Given the description of an element on the screen output the (x, y) to click on. 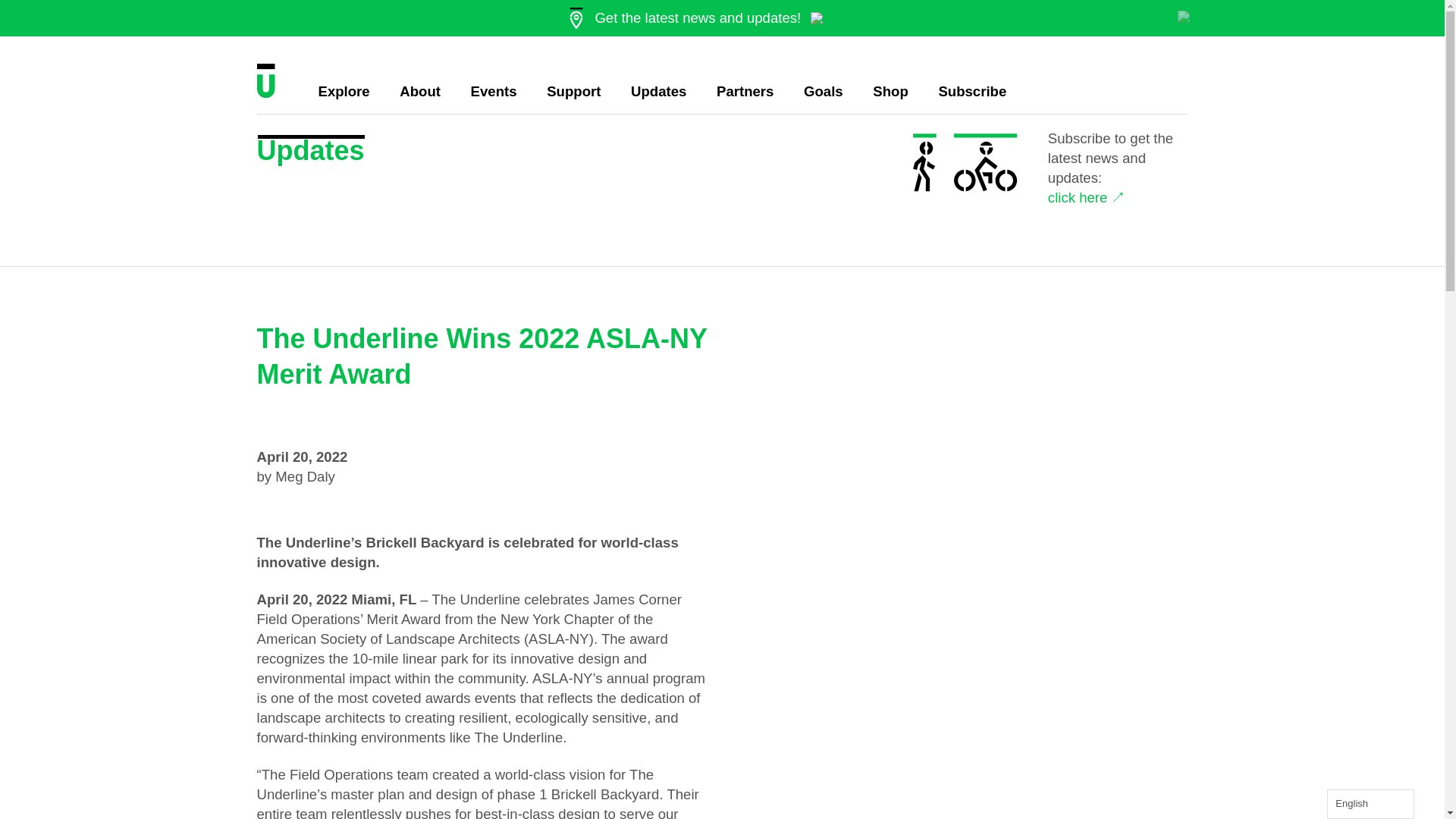
Events (493, 91)
Shop (889, 91)
Goals (823, 91)
About (419, 91)
Subscribe (971, 91)
Updates (657, 91)
Explore (343, 91)
Support (573, 91)
Partners (744, 91)
